Given the description of an element on the screen output the (x, y) to click on. 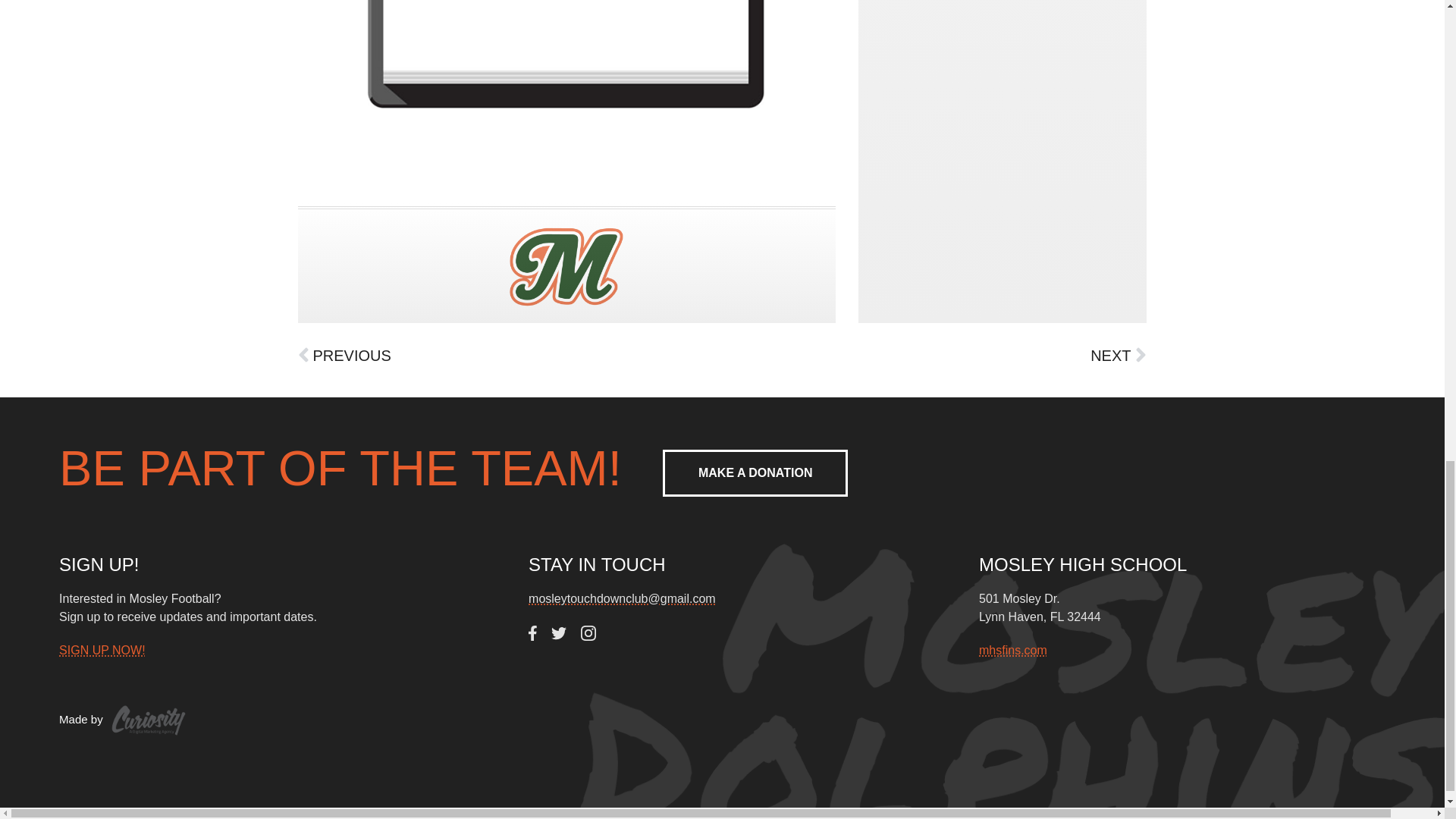
PREVIOUS (509, 355)
